Given the description of an element on the screen output the (x, y) to click on. 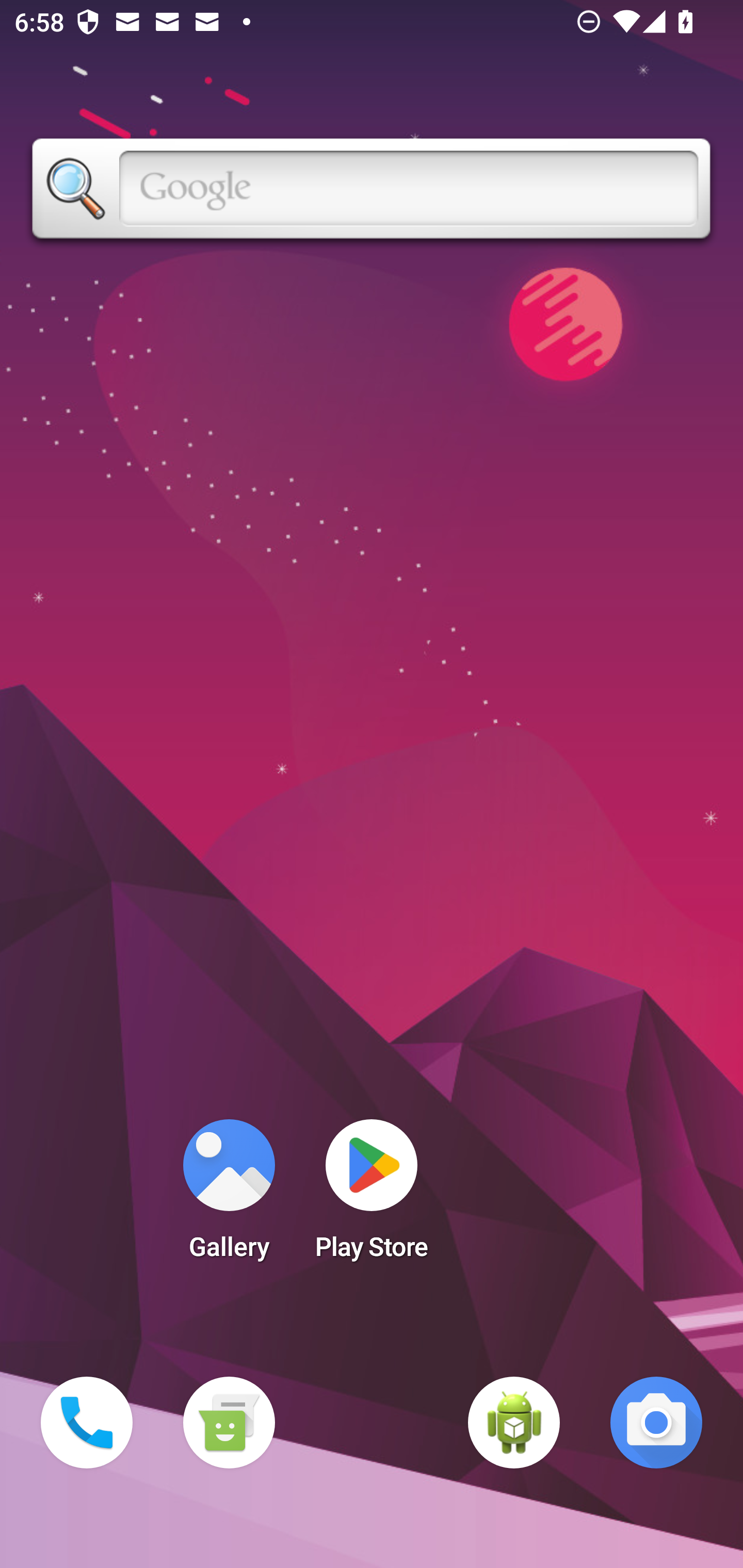
Gallery (228, 1195)
Play Store (371, 1195)
Phone (86, 1422)
Messaging (228, 1422)
WebView Browser Tester (513, 1422)
Camera (656, 1422)
